Given the description of an element on the screen output the (x, y) to click on. 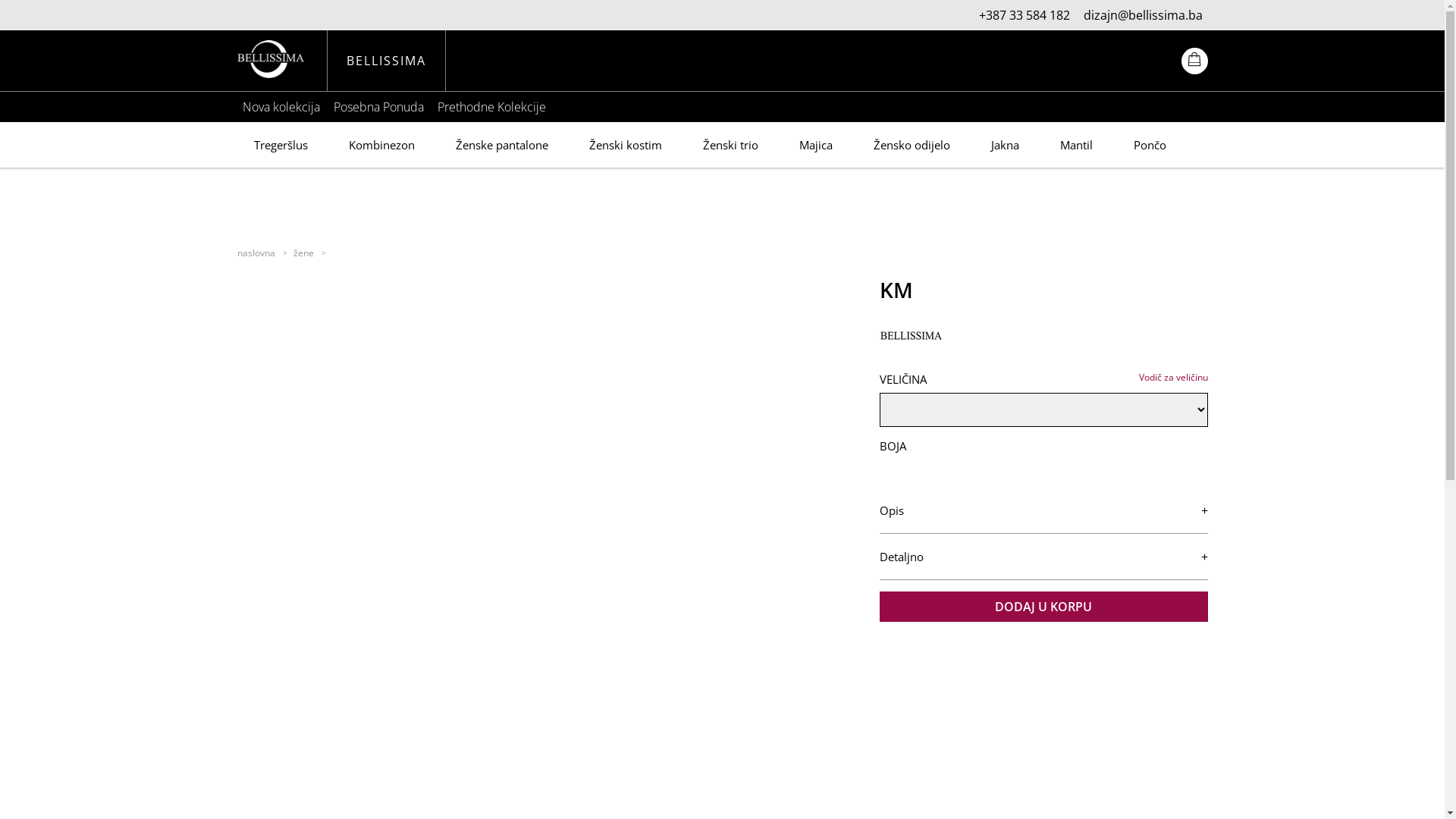
Tunika Element type: text (482, 144)
Bluza Element type: text (332, 144)
DODAJ U KORPU Element type: text (1043, 606)
Posebna Ponuda Element type: text (378, 106)
Majica Element type: text (1175, 144)
Prethodne Kolekcije Element type: text (490, 106)
BELLISSIMA Element type: text (386, 60)
Nova kolekcija Element type: text (281, 106)
Suknja Element type: text (558, 144)
Kombinezon Element type: text (742, 144)
